Given the description of an element on the screen output the (x, y) to click on. 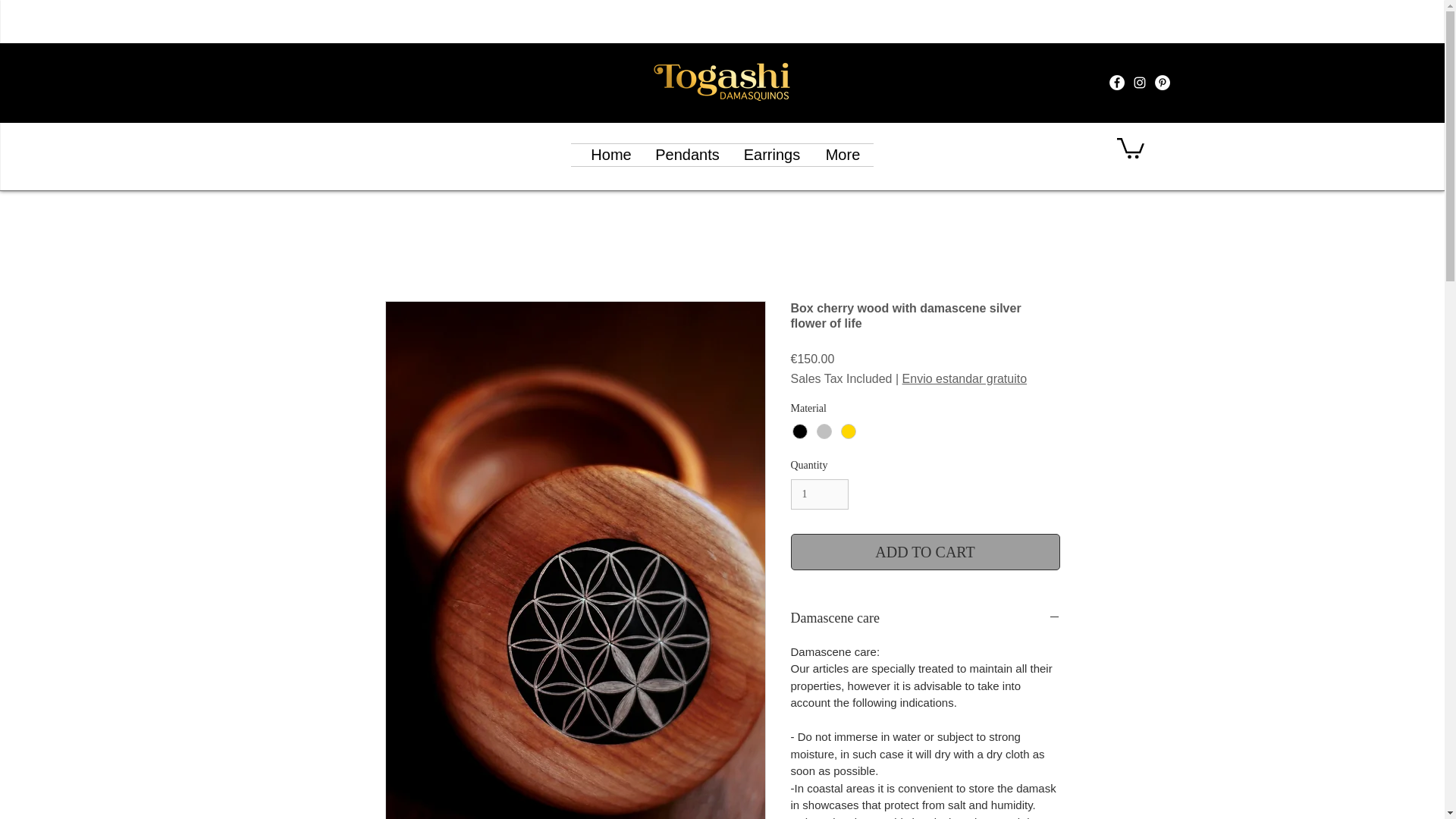
Envio estandar gratuito (964, 378)
Earrings (771, 155)
1 (818, 494)
ADD TO CART (924, 551)
Home (611, 155)
Pendants (686, 155)
Damascene care (924, 618)
